Given the description of an element on the screen output the (x, y) to click on. 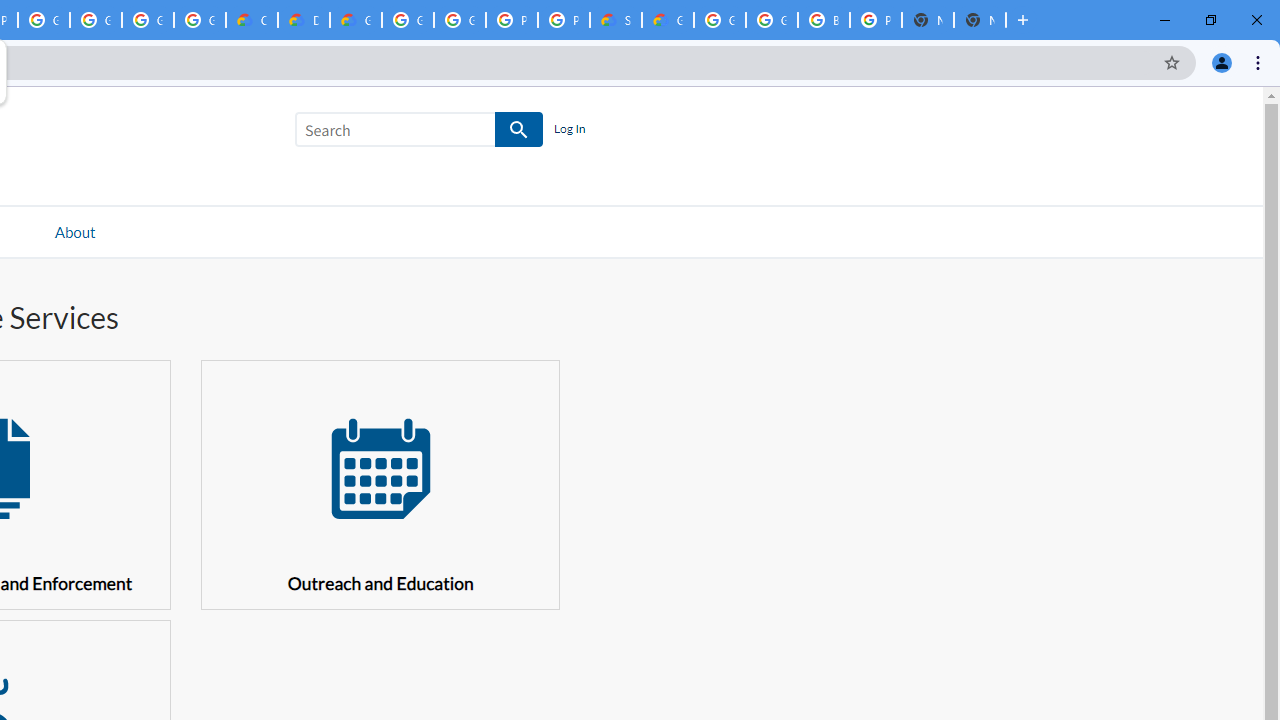
About (74, 231)
Google Cloud Platform (459, 20)
 Outreach and Education (380, 484)
Gemini for Business and Developers | Google Cloud (355, 20)
New Tab (979, 20)
AutomationID: navitem2 (74, 231)
